Given the description of an element on the screen output the (x, y) to click on. 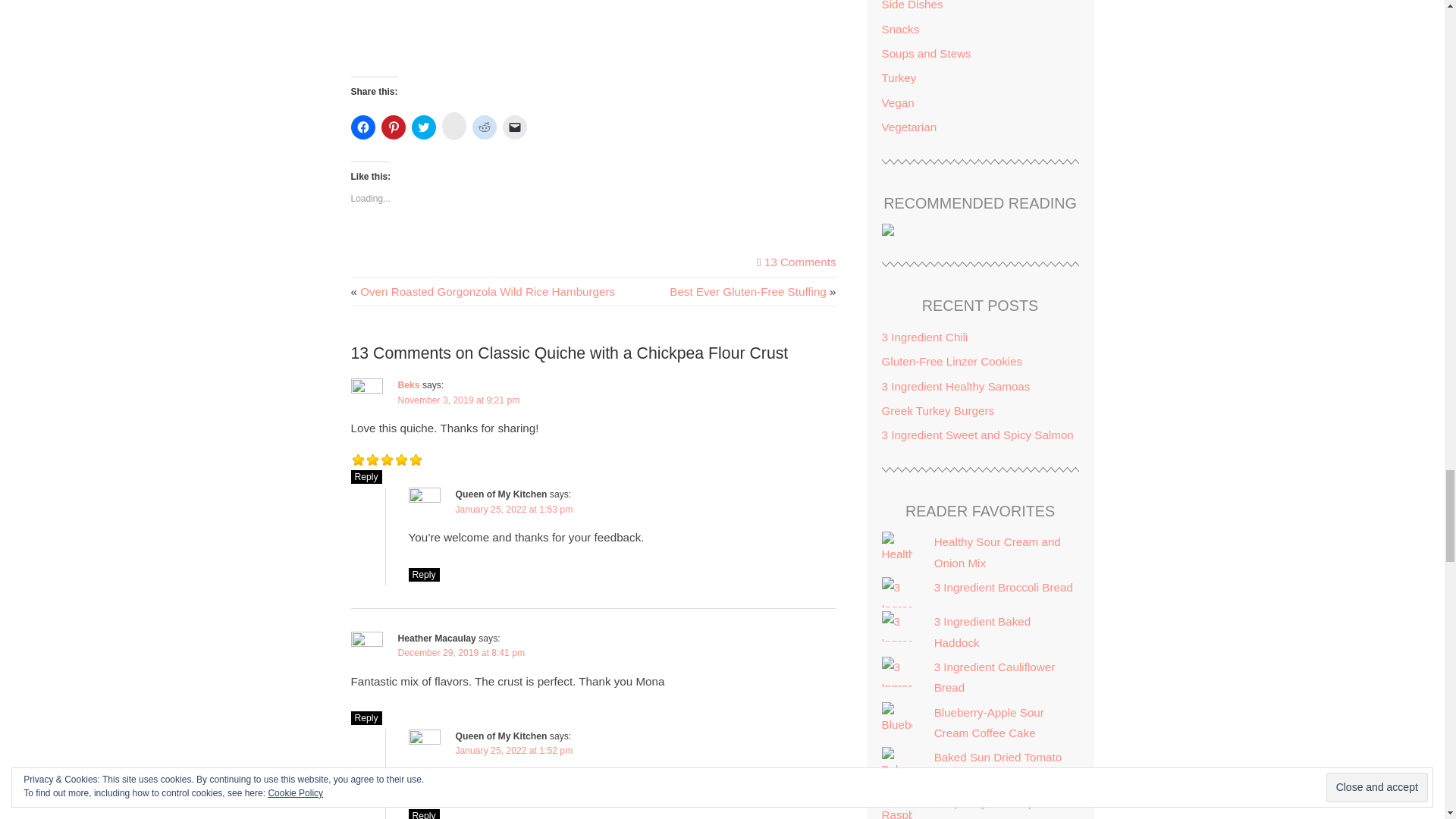
Classic Quiche Lorraine with Chickpea Flour Crust-4 (412, 21)
Classic Quiche Lorraine with Chickpea Flour Crust-3 (655, 21)
Oven Roasted Gorgonzola Wild Rice Hamburgers (486, 291)
Classic Quiche Lorraine with Chickpea Flour Crust-1 (533, 21)
13 Comments (799, 261)
Best Ever Gluten-Free Stuffing (748, 291)
